Given the description of an element on the screen output the (x, y) to click on. 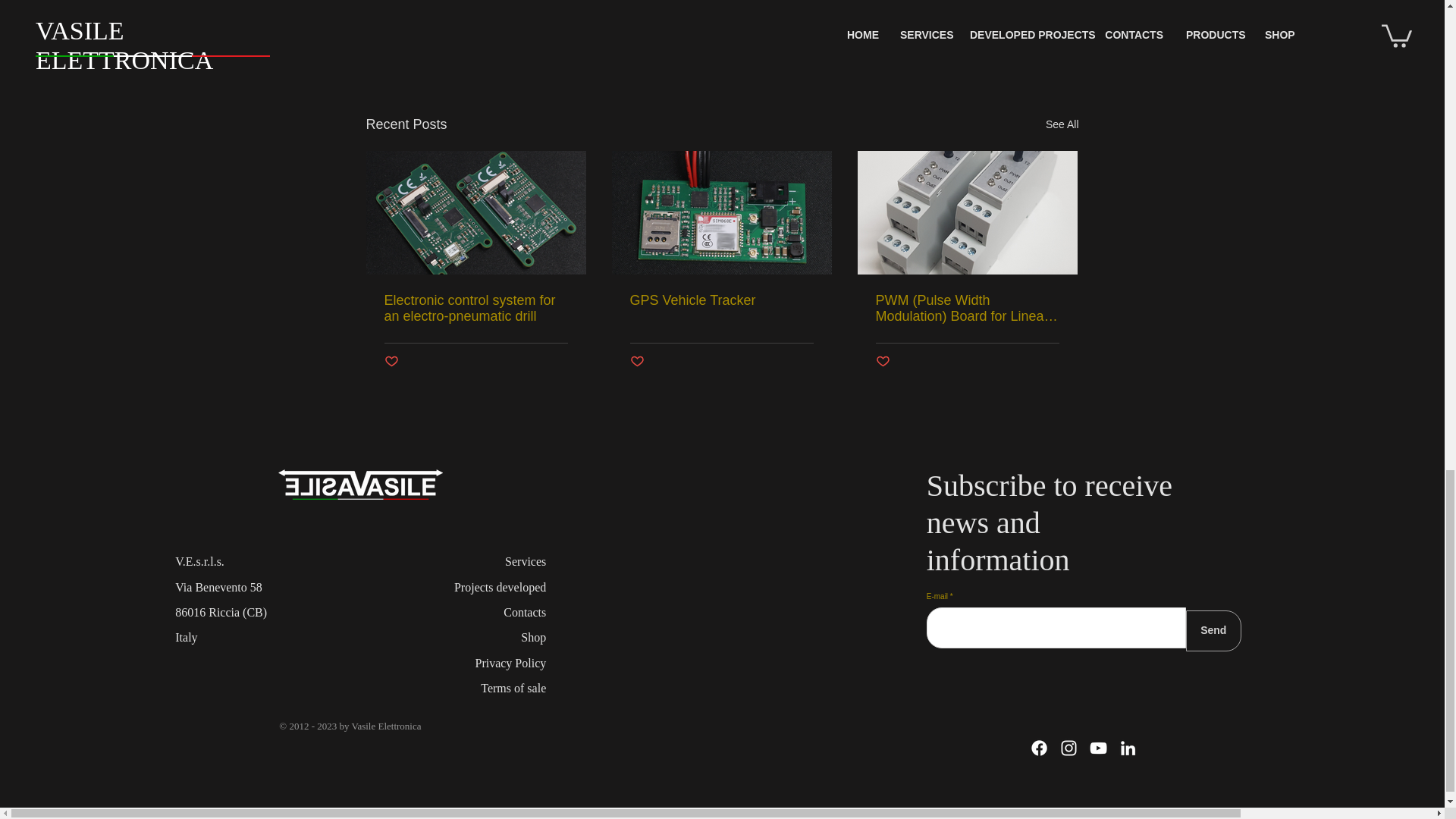
Projects developed (500, 586)
GPS Vehicle Tracker (720, 300)
Post not marked as liked (995, 42)
Electronic control system for an electro-pneumatic drill (475, 308)
Post not marked as liked (882, 361)
Post not marked as liked (390, 361)
Shop (533, 636)
Post not marked as liked (635, 361)
See All (1061, 124)
Contacts (524, 612)
Services (525, 561)
